Given the description of an element on the screen output the (x, y) to click on. 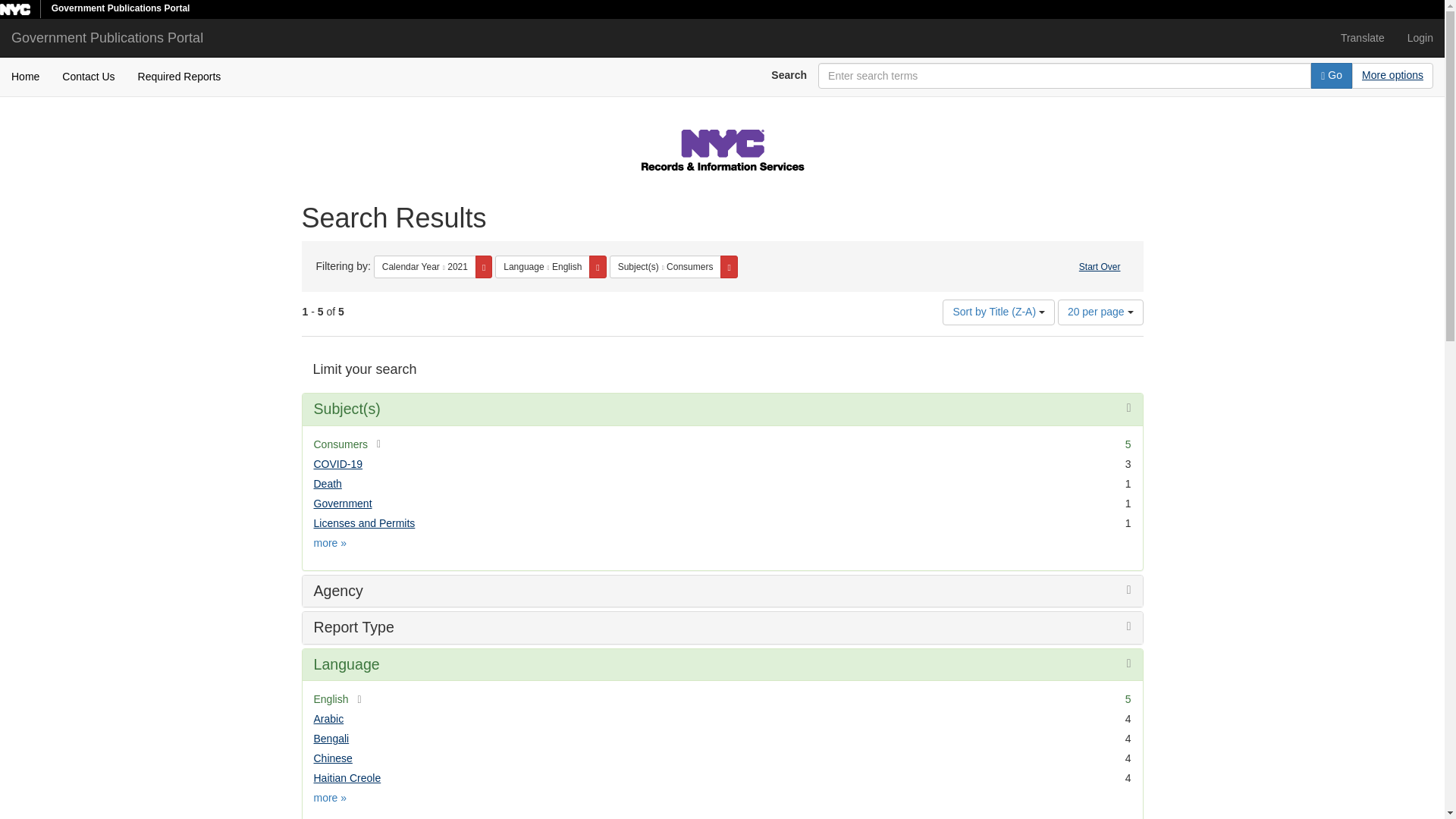
Translate (1362, 37)
Consumers (689, 266)
More options (1392, 75)
Start Over (1099, 266)
COVID-19 (338, 463)
Required Reports (179, 76)
Go (1331, 75)
2021 (456, 266)
Contact Us (87, 76)
Agency (338, 590)
Death (328, 483)
Licenses and Permits (364, 522)
Language (1362, 37)
English (565, 266)
More options (1392, 74)
